Given the description of an element on the screen output the (x, y) to click on. 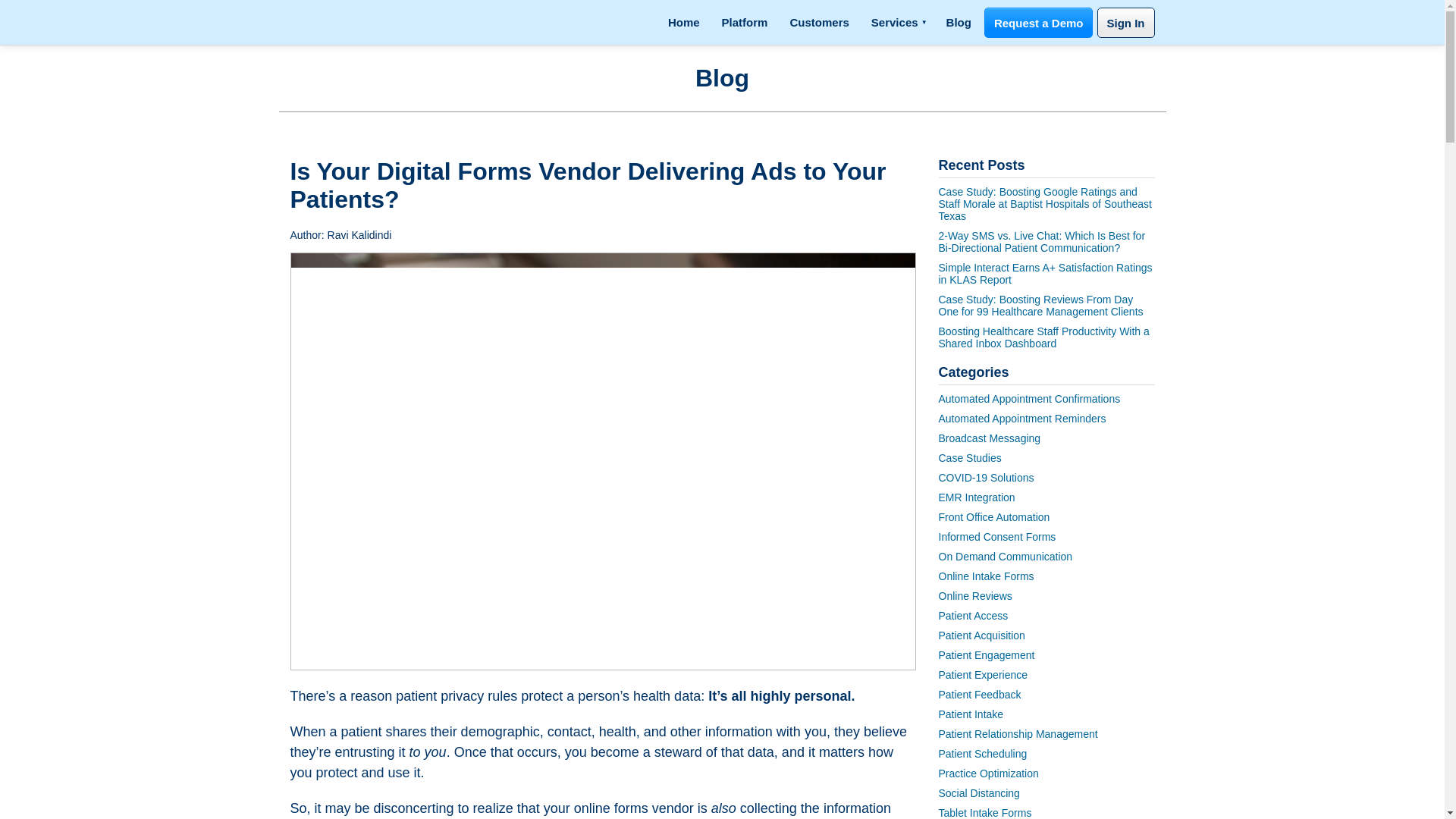
Automated Appointment Confirmations (1030, 398)
Online Reviews (975, 595)
Platform (745, 22)
Patient Intake (971, 714)
Home (684, 22)
Services (897, 22)
Patient Engagement (987, 654)
Customers (818, 22)
Automated Appointment Reminders (1022, 418)
